Given the description of an element on the screen output the (x, y) to click on. 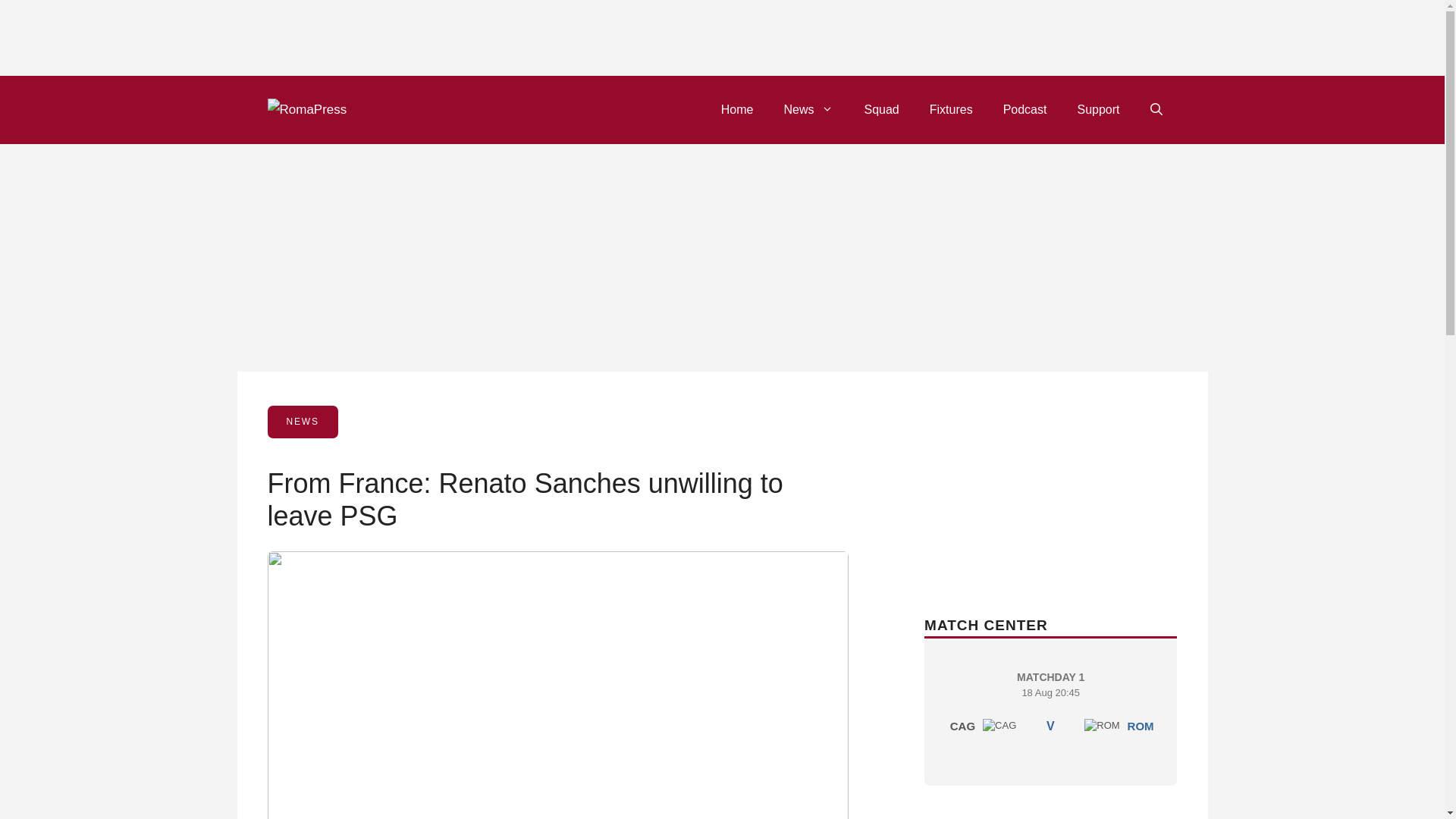
Support (1097, 109)
ROM (1101, 725)
News (808, 109)
Podcast (1025, 109)
CAG (999, 725)
Squad (881, 109)
ROM (1140, 725)
Home (1050, 707)
Fixtures (737, 109)
